Given the description of an element on the screen output the (x, y) to click on. 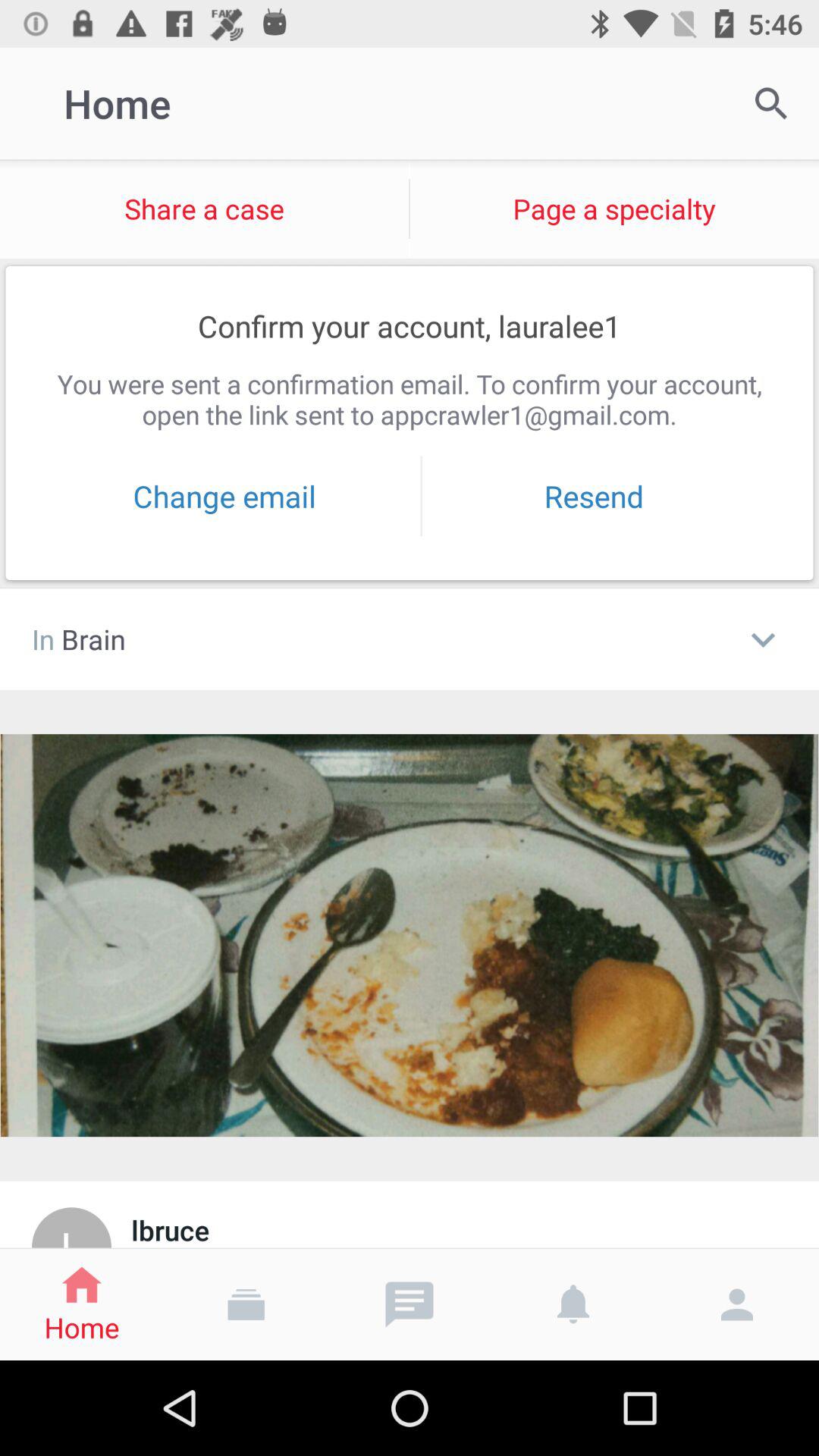
select item next to the lbruce item (71, 1227)
